Given the description of an element on the screen output the (x, y) to click on. 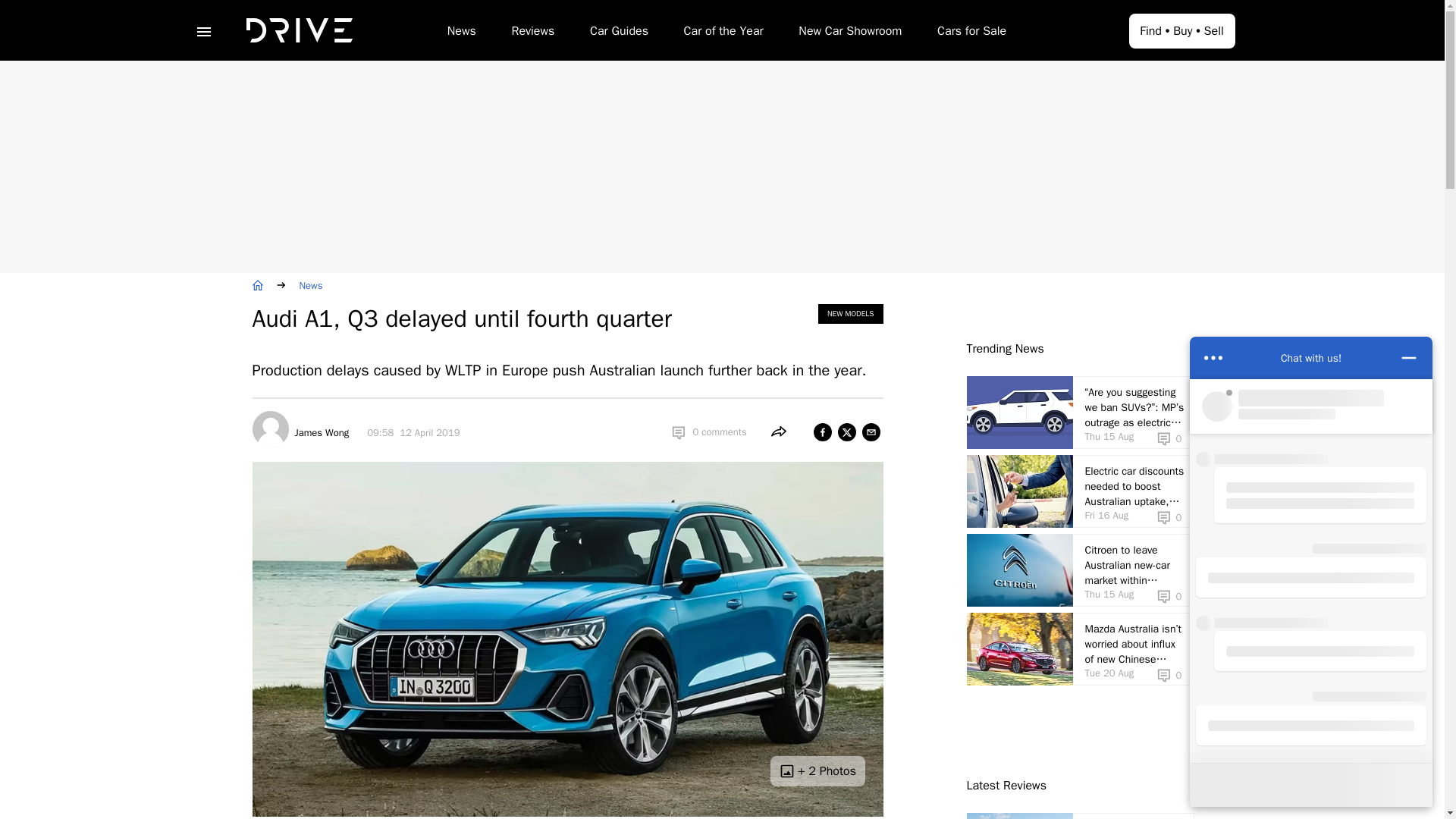
Cars for Sale (971, 33)
Share on X (846, 432)
Share via e-mail (870, 432)
New Car Showroom (849, 33)
Car of the Year (723, 33)
Reviews (532, 33)
News (461, 33)
Share on Facebook (821, 432)
Car Guides (618, 33)
